Given the description of an element on the screen output the (x, y) to click on. 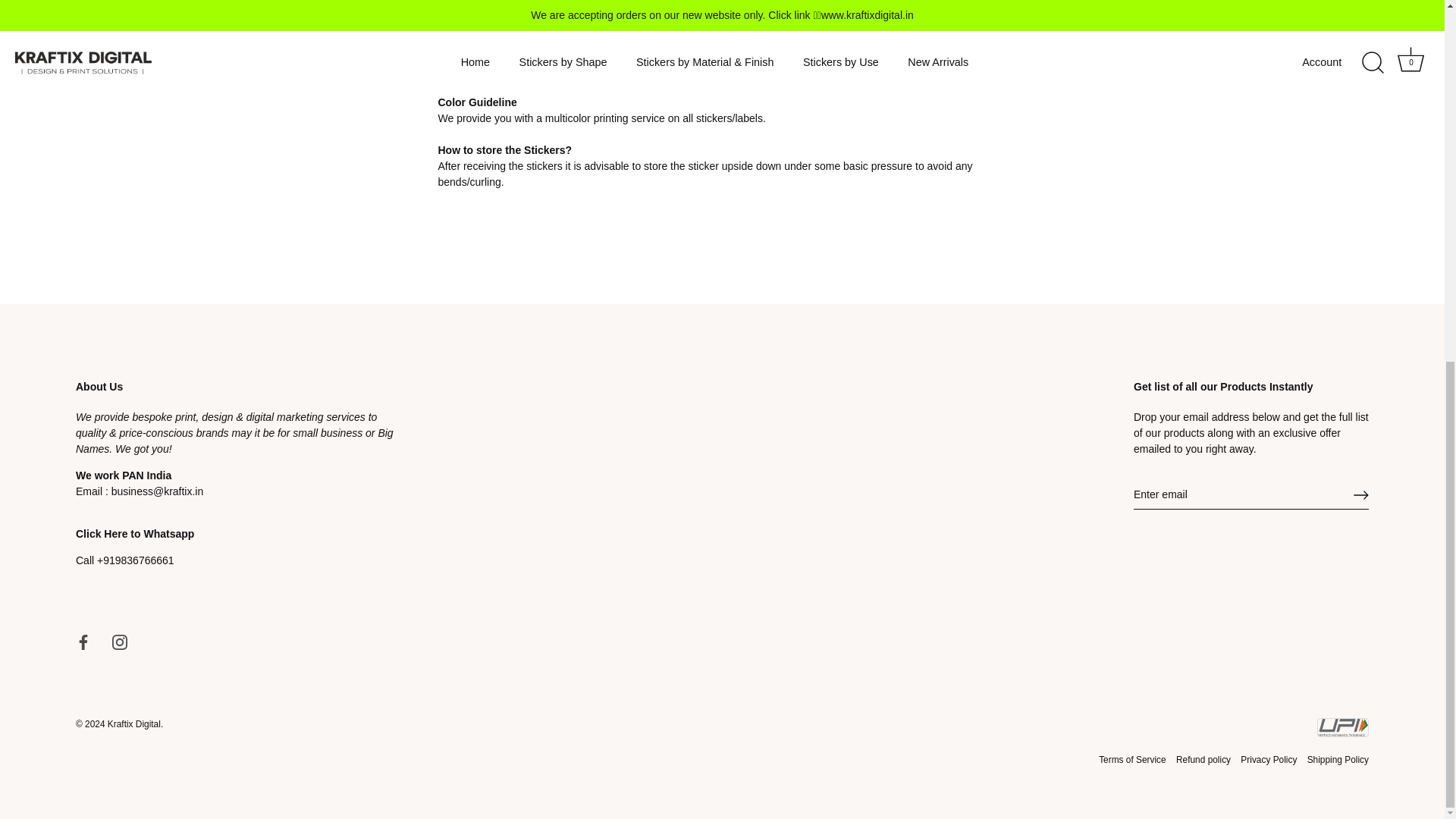
Instagram (120, 642)
RIGHT ARROW LONG (1361, 494)
